Given the description of an element on the screen output the (x, y) to click on. 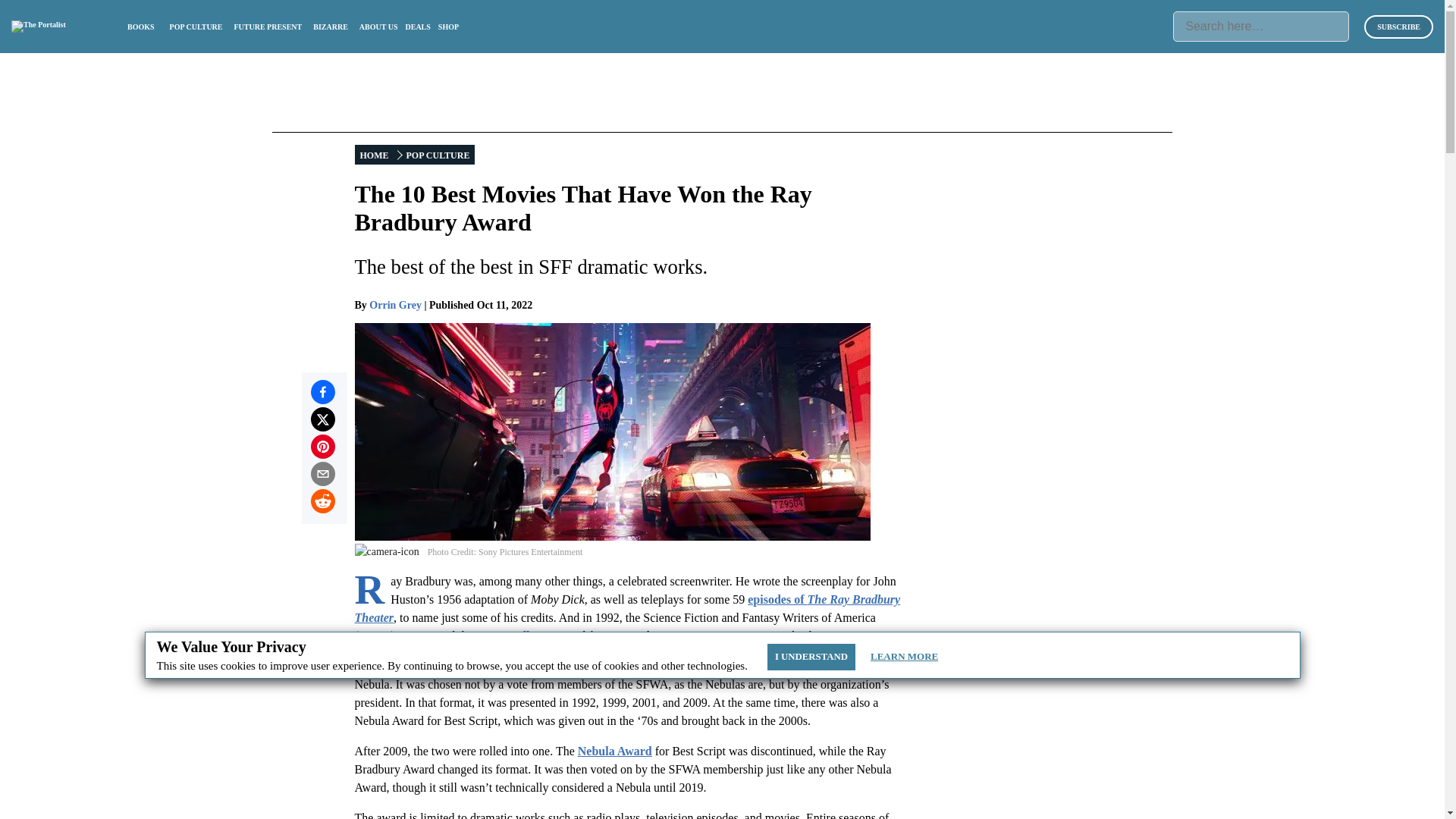
POP CULTURE (196, 26)
The Portalist (38, 26)
Ray Bradbury (513, 635)
Nebula Award (615, 750)
BOOKS (141, 26)
POP CULTURE (437, 154)
HOME (374, 154)
BIZARRE (330, 26)
SHOP (448, 26)
LEARN MORE (903, 656)
